Given the description of an element on the screen output the (x, y) to click on. 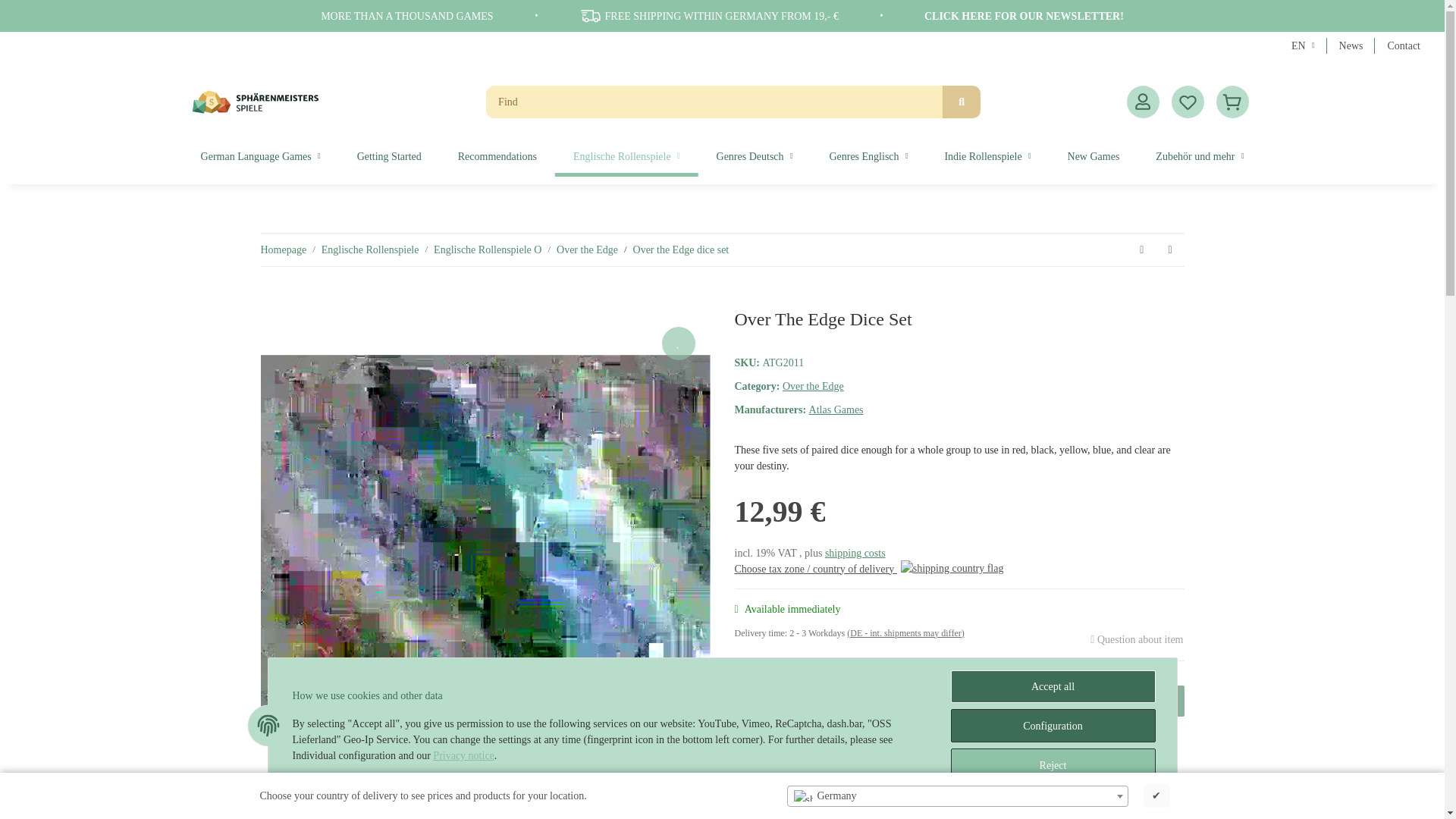
German Language Games (261, 156)
Englische Rollenspiele (626, 156)
Genres Englisch (868, 156)
News (1350, 45)
Contact-Form (1403, 45)
Getting Started (389, 156)
News (1350, 45)
German Language Games (261, 156)
German Language Games (261, 156)
EN (1302, 45)
